Given the description of an element on the screen output the (x, y) to click on. 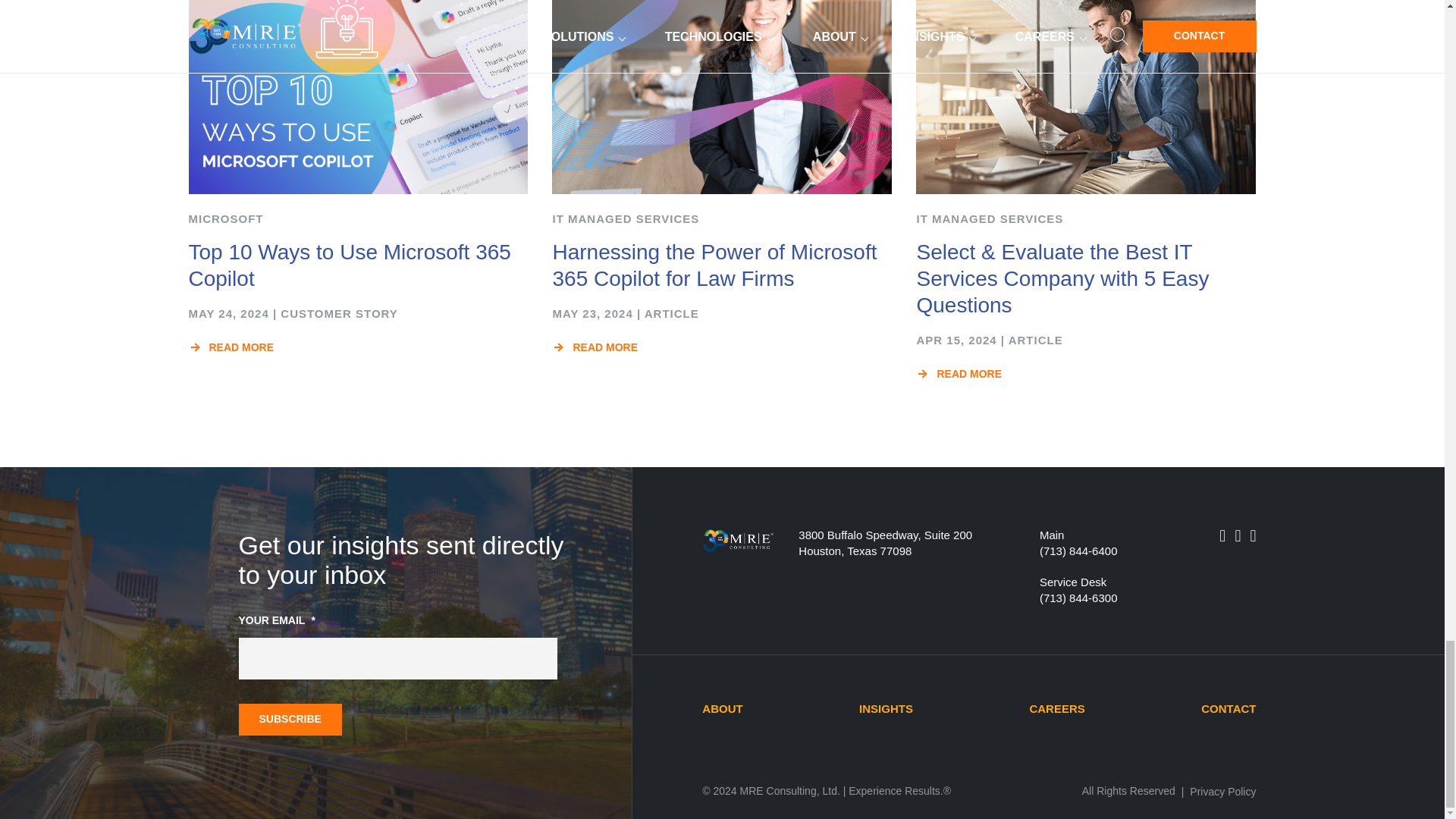
Subscribe (289, 719)
